Given the description of an element on the screen output the (x, y) to click on. 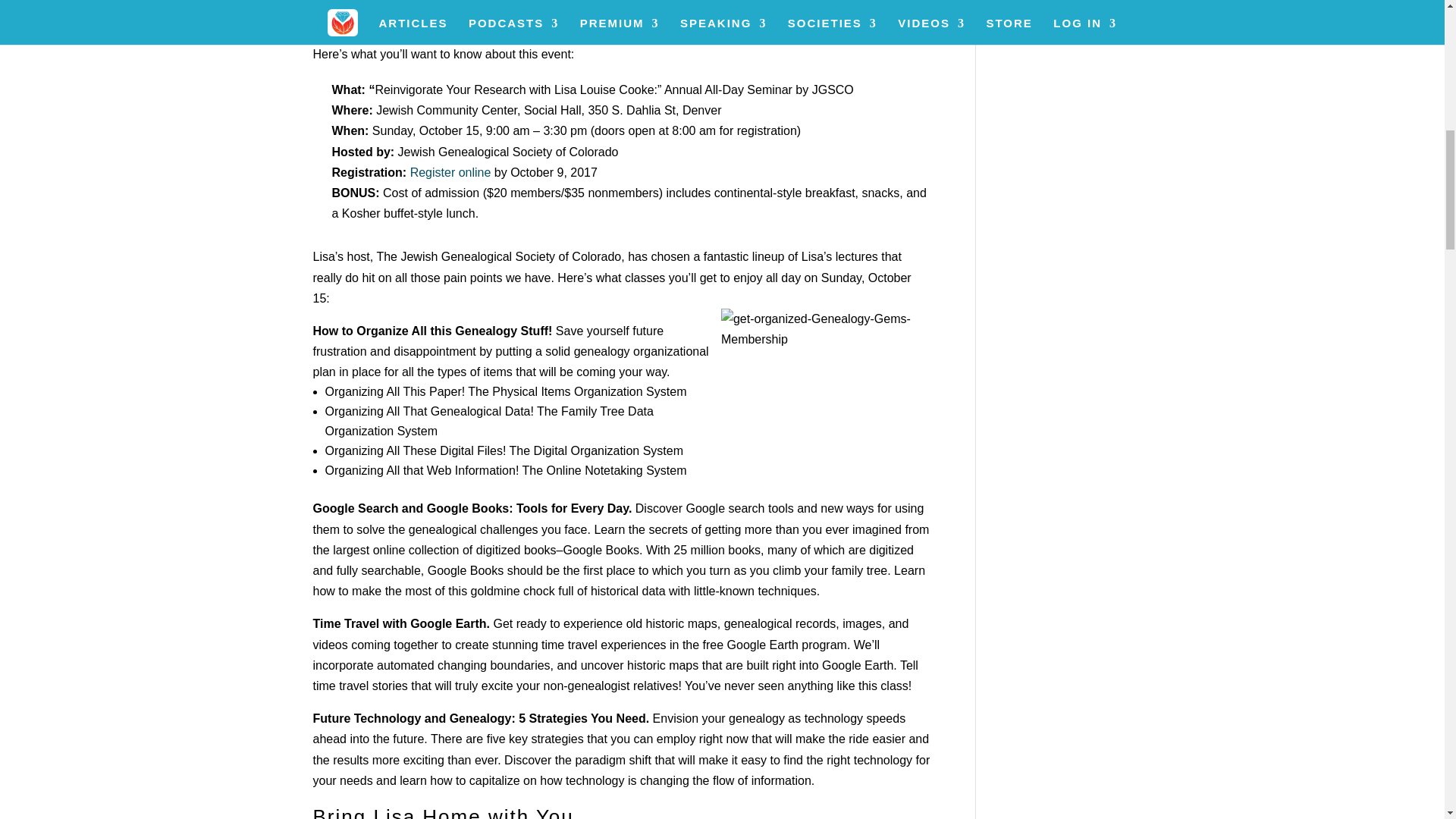
Register online (451, 172)
